Given the description of an element on the screen output the (x, y) to click on. 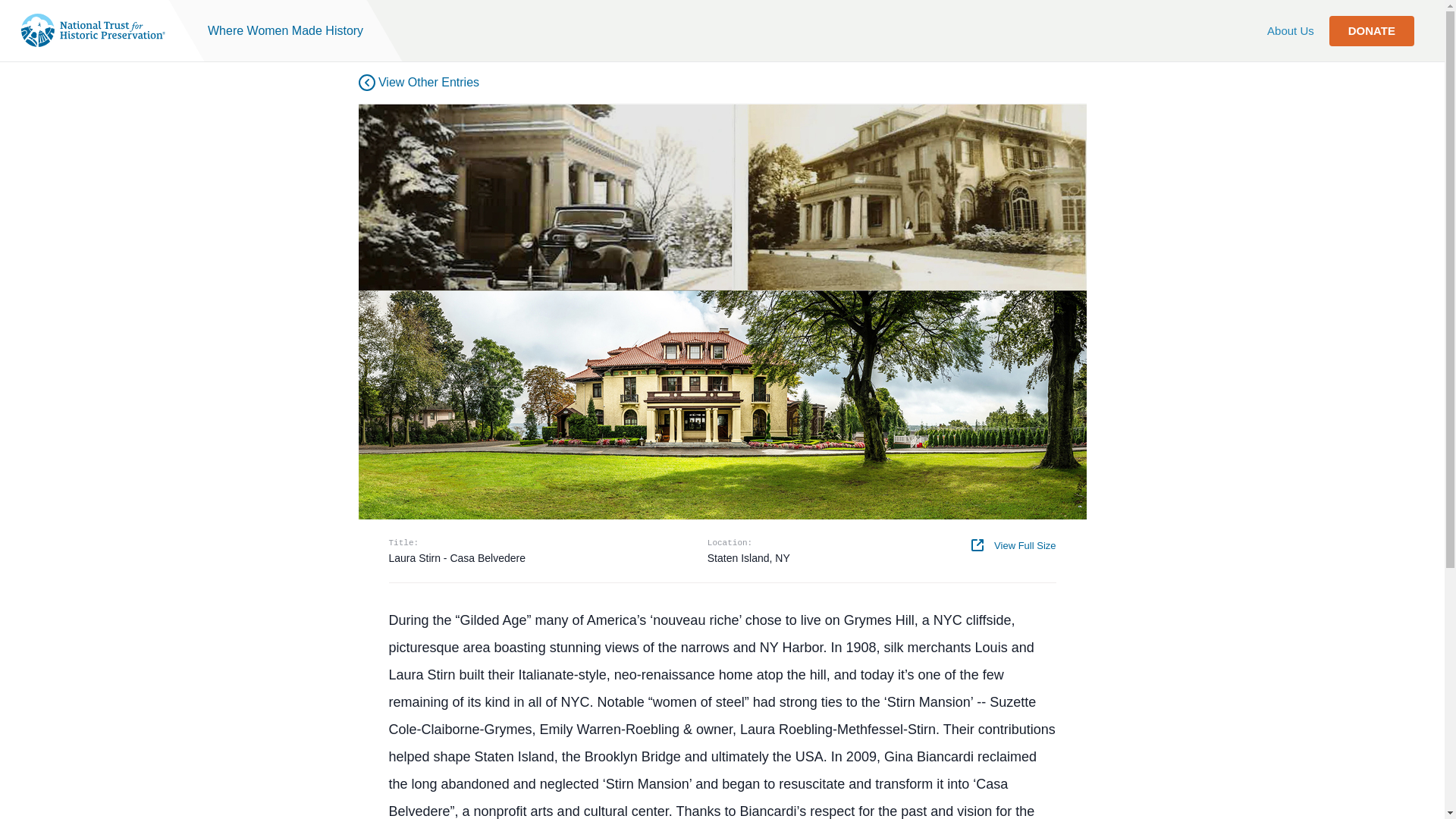
View Full Size (1013, 545)
DONATE (1371, 30)
View Other Entries (418, 82)
National Trust for Historic Places: Go to home page (93, 30)
About Us (1290, 30)
Where Women Made History (285, 30)
